Given the description of an element on the screen output the (x, y) to click on. 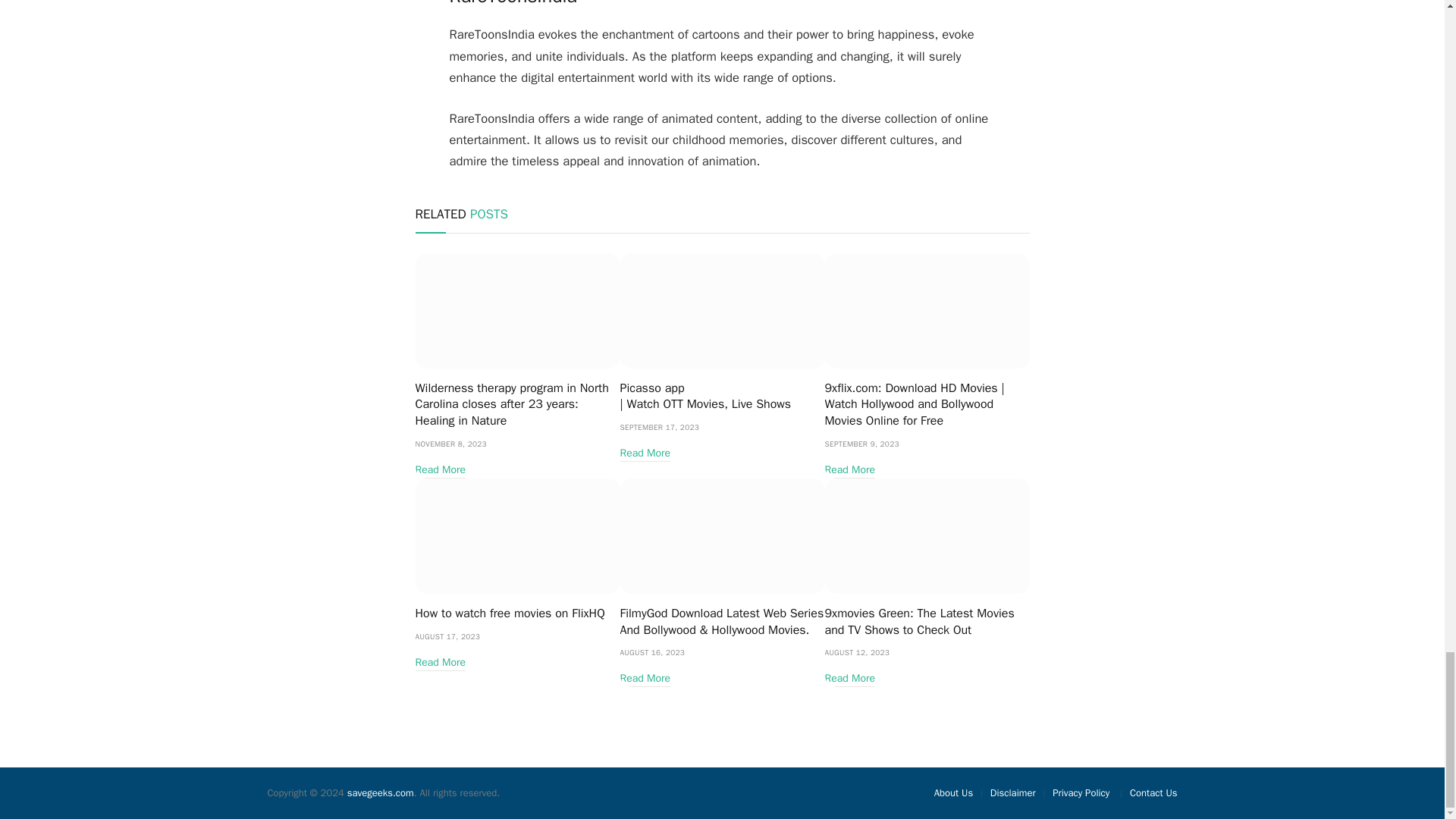
Read More (439, 469)
